Given the description of an element on the screen output the (x, y) to click on. 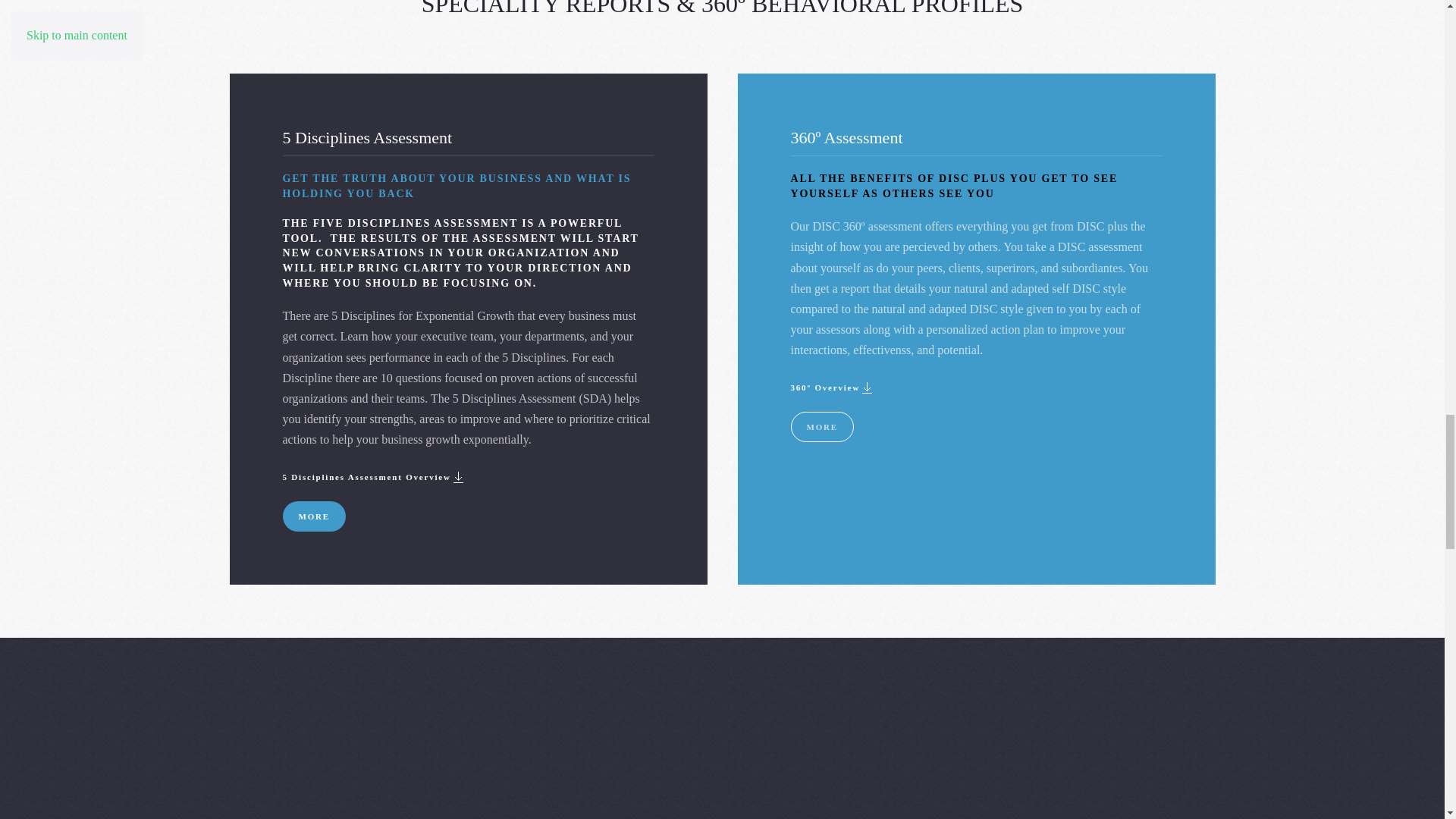
5 Disciplines Assessment Overview (373, 476)
MORE (821, 426)
MORE (313, 516)
